Given the description of an element on the screen output the (x, y) to click on. 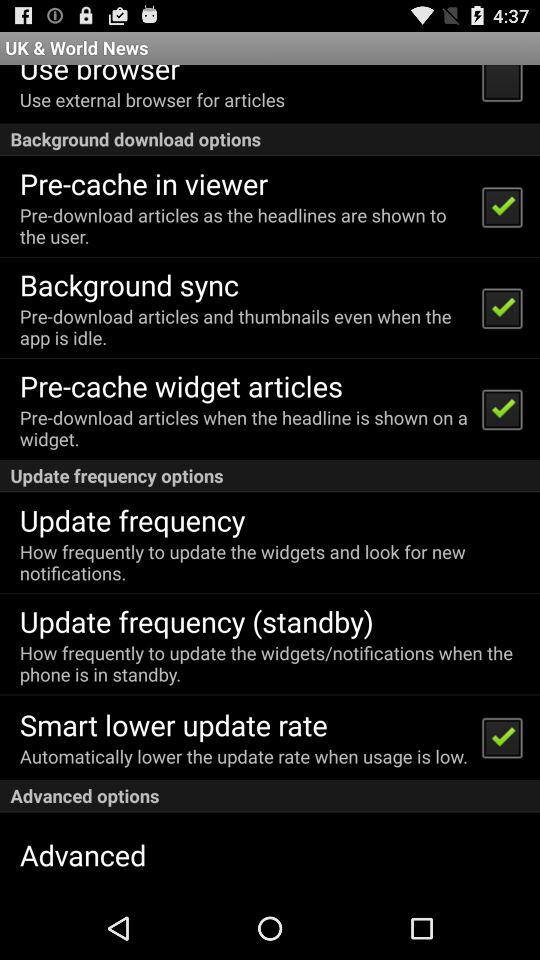
choose the icon above advanced options icon (243, 755)
